Given the description of an element on the screen output the (x, y) to click on. 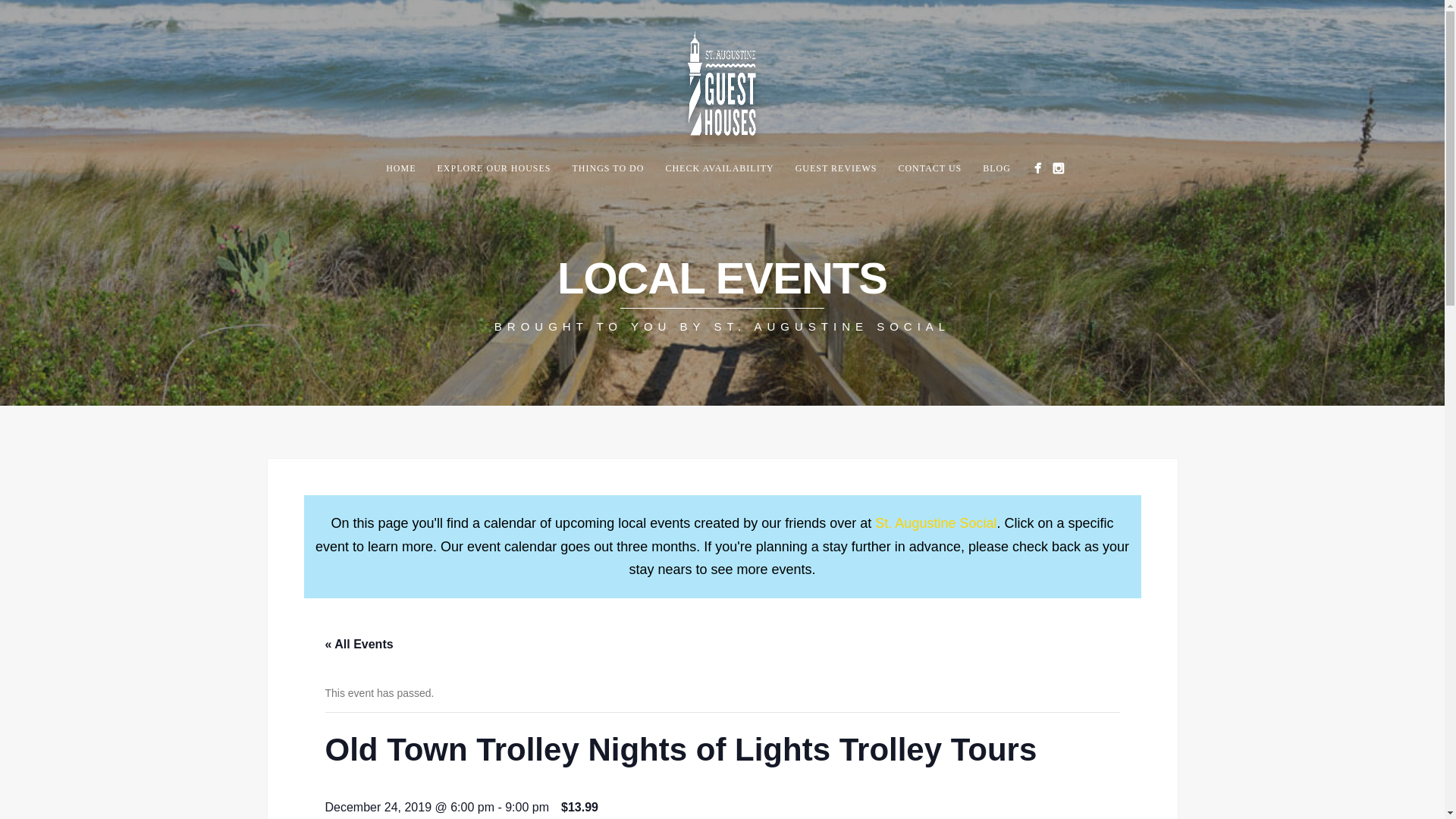
EXPLORE OUR HOUSES (493, 167)
Facebook (1036, 167)
CONTACT US (929, 167)
BLOG (997, 167)
CHECK AVAILABILITY (718, 167)
Instagram (1057, 167)
St. Augustine Social (935, 522)
THINGS TO DO (608, 167)
HOME (400, 167)
GUEST REVIEWS (836, 167)
